Given the description of an element on the screen output the (x, y) to click on. 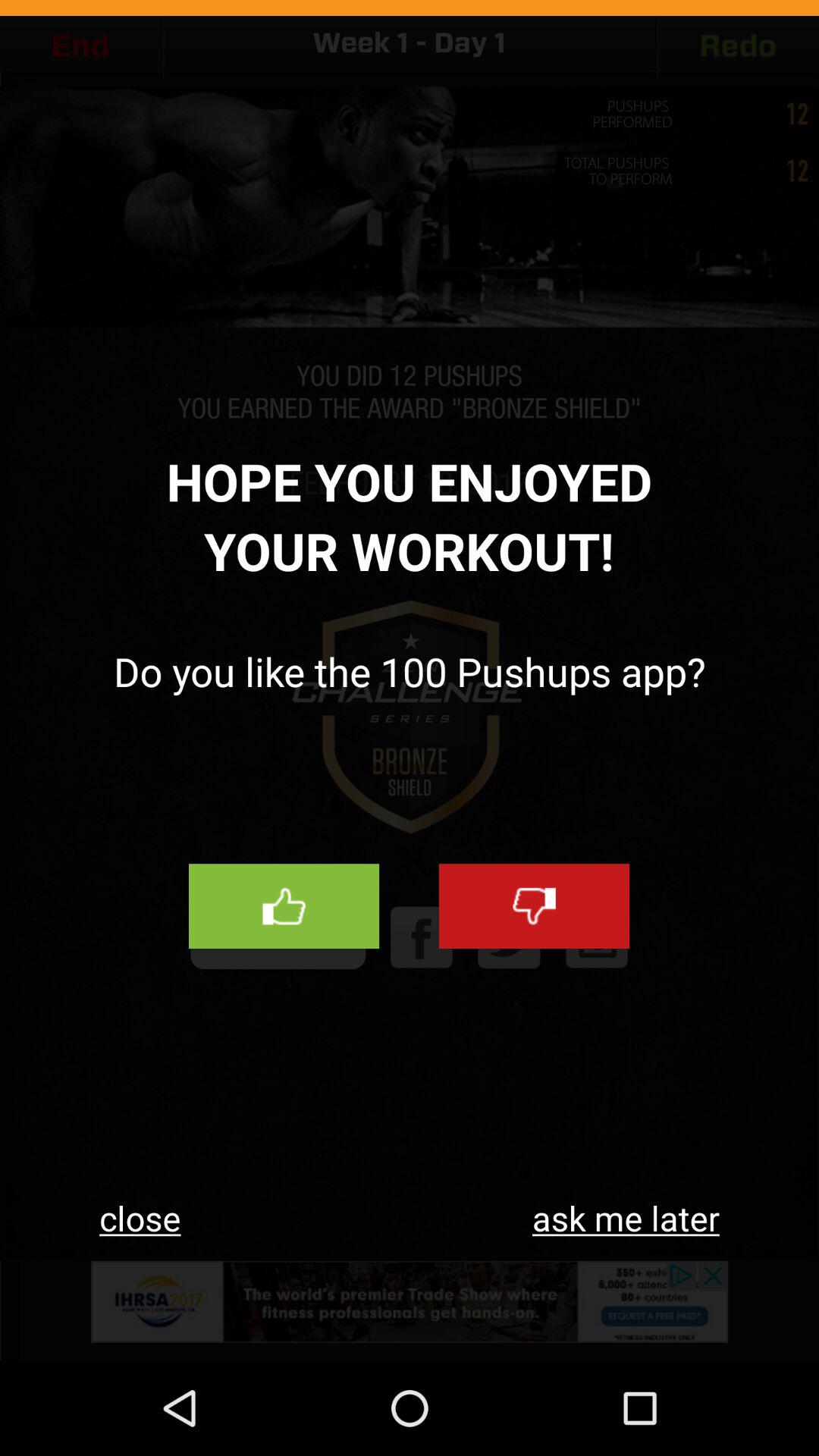
unlike option (534, 905)
